Given the description of an element on the screen output the (x, y) to click on. 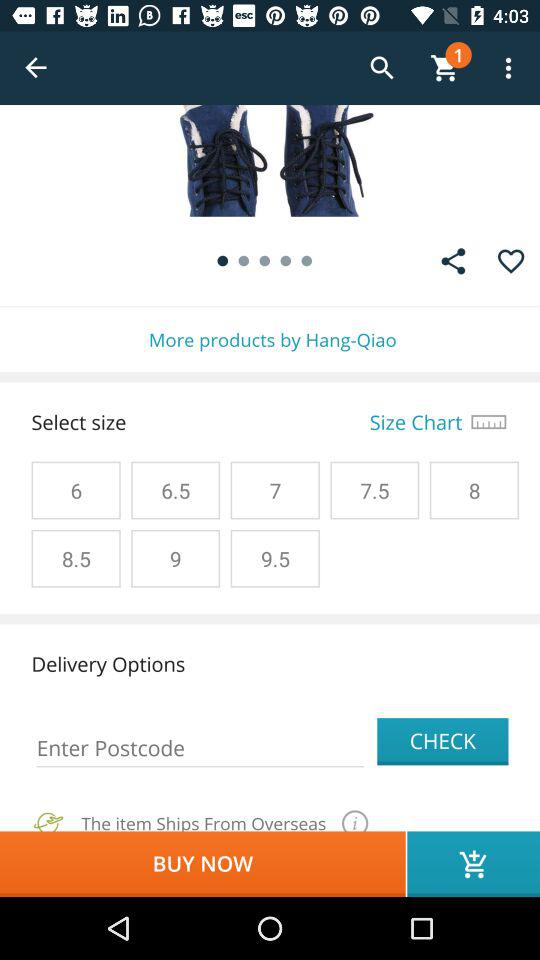
click on 6 on the left side of 65 (75, 490)
click on the button which is in between 6 and 7 (175, 490)
click on the button which is left side of the cart (381, 68)
click the more option  beside cart button (508, 68)
click on the button which is next to the buy now (473, 863)
click on cart icon at top of the page right to search icon (445, 68)
click the logo at left corner bottom left to the item ships from overseas (48, 819)
click on the share icon (453, 261)
